Given the description of an element on the screen output the (x, y) to click on. 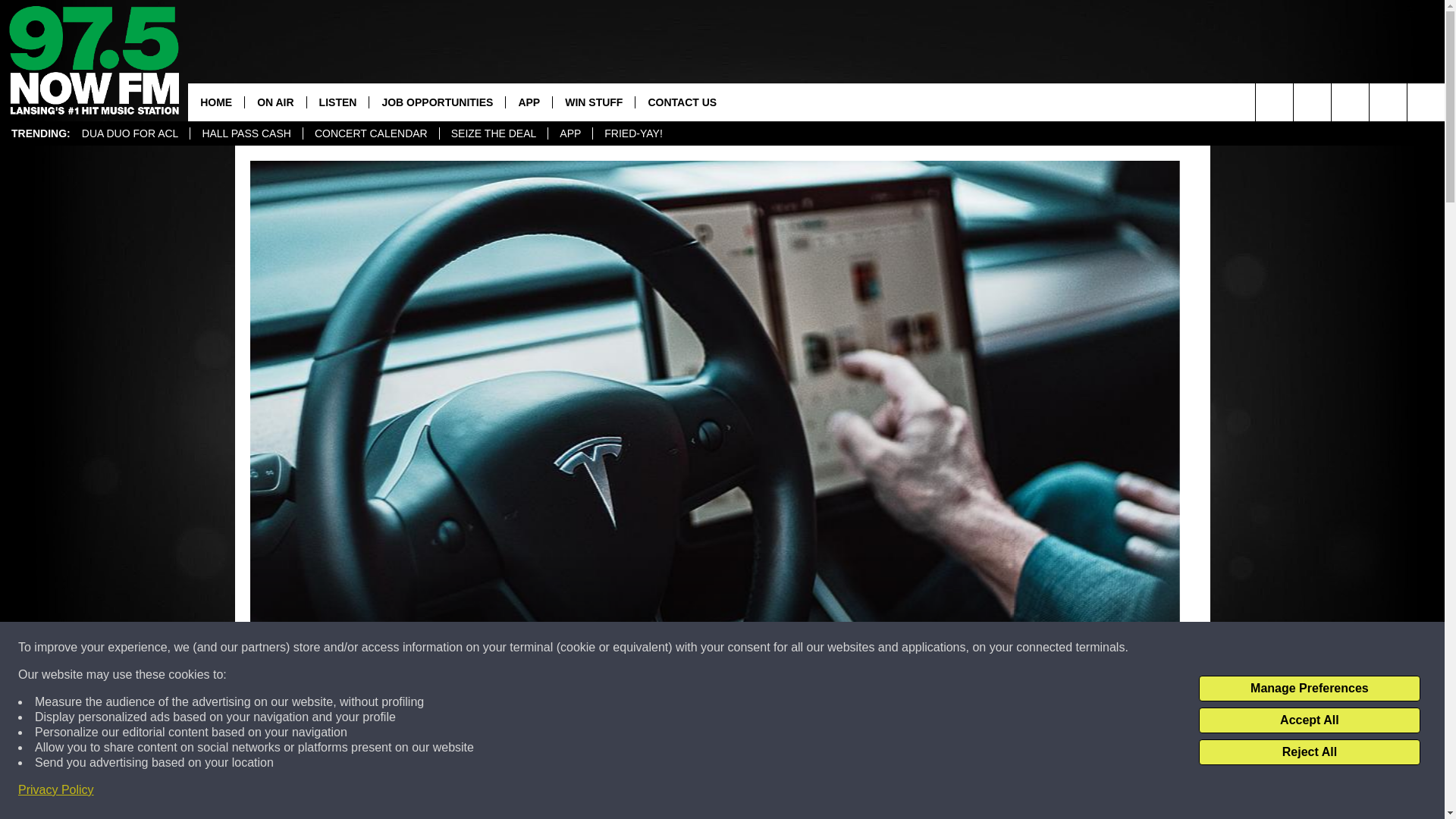
SEIZE THE DEAL (493, 133)
HOME (215, 102)
CONTACT US (681, 102)
APP (569, 133)
APP (528, 102)
Share on Twitter (912, 791)
Reject All (1309, 751)
Share on Facebook (517, 791)
ON AIR (274, 102)
Accept All (1309, 720)
HALL PASS CASH (245, 133)
FRIED-YAY! (633, 133)
WIN STUFF (592, 102)
CONCERT CALENDAR (370, 133)
LISTEN (337, 102)
